Given the description of an element on the screen output the (x, y) to click on. 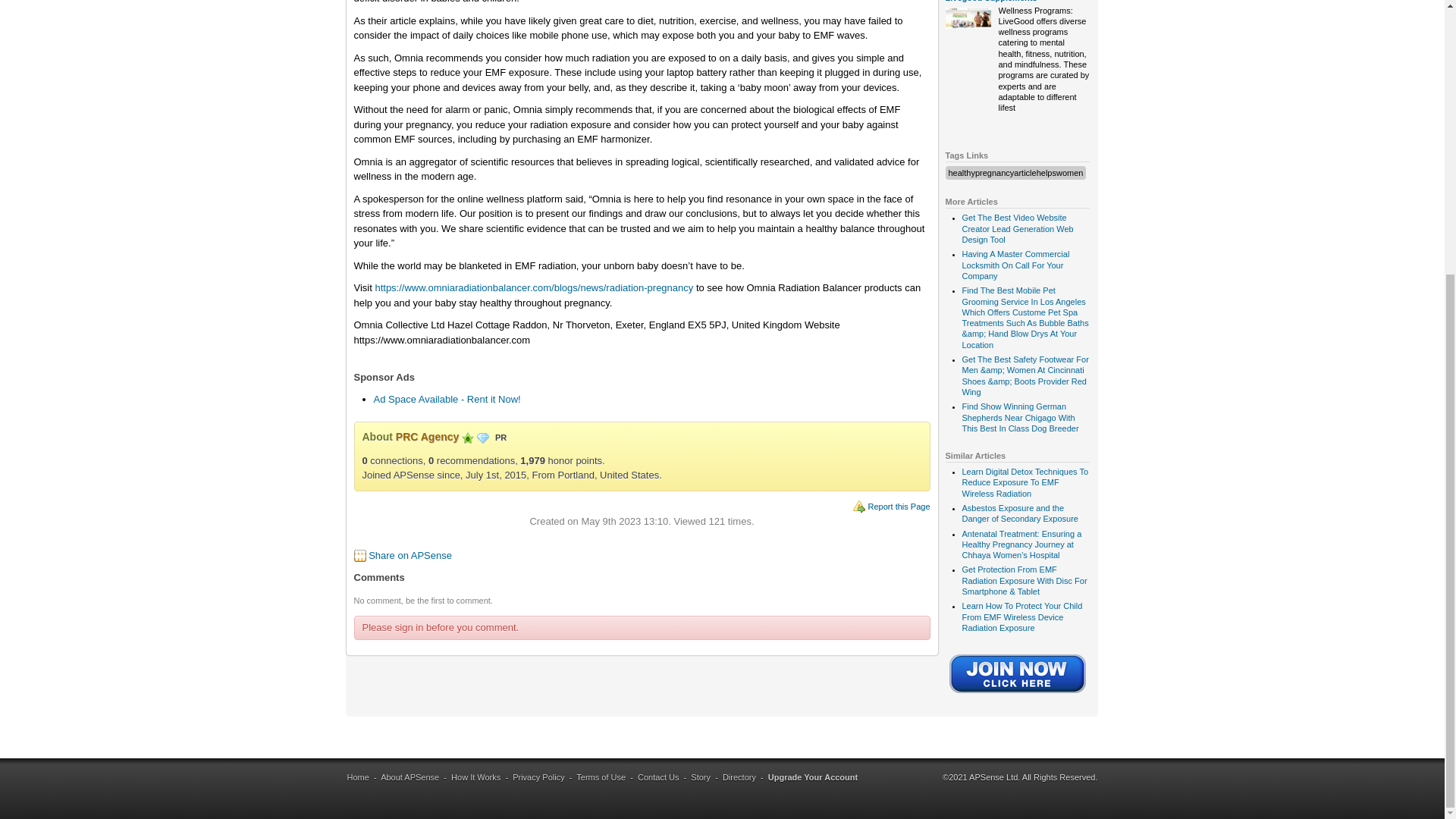
Share on APSense (409, 555)
Join APSense Social Network (1017, 694)
healthypregnancyarticlehelpswomen (1015, 172)
Asbestos Exposure and the Danger of Secondary Exposure (1018, 513)
Share on APSense (409, 555)
Livegood Supplements (990, 1)
Ad Space Available - Rent it Now! (445, 398)
PRC Agency (428, 436)
Committed (467, 438)
